Given the description of an element on the screen output the (x, y) to click on. 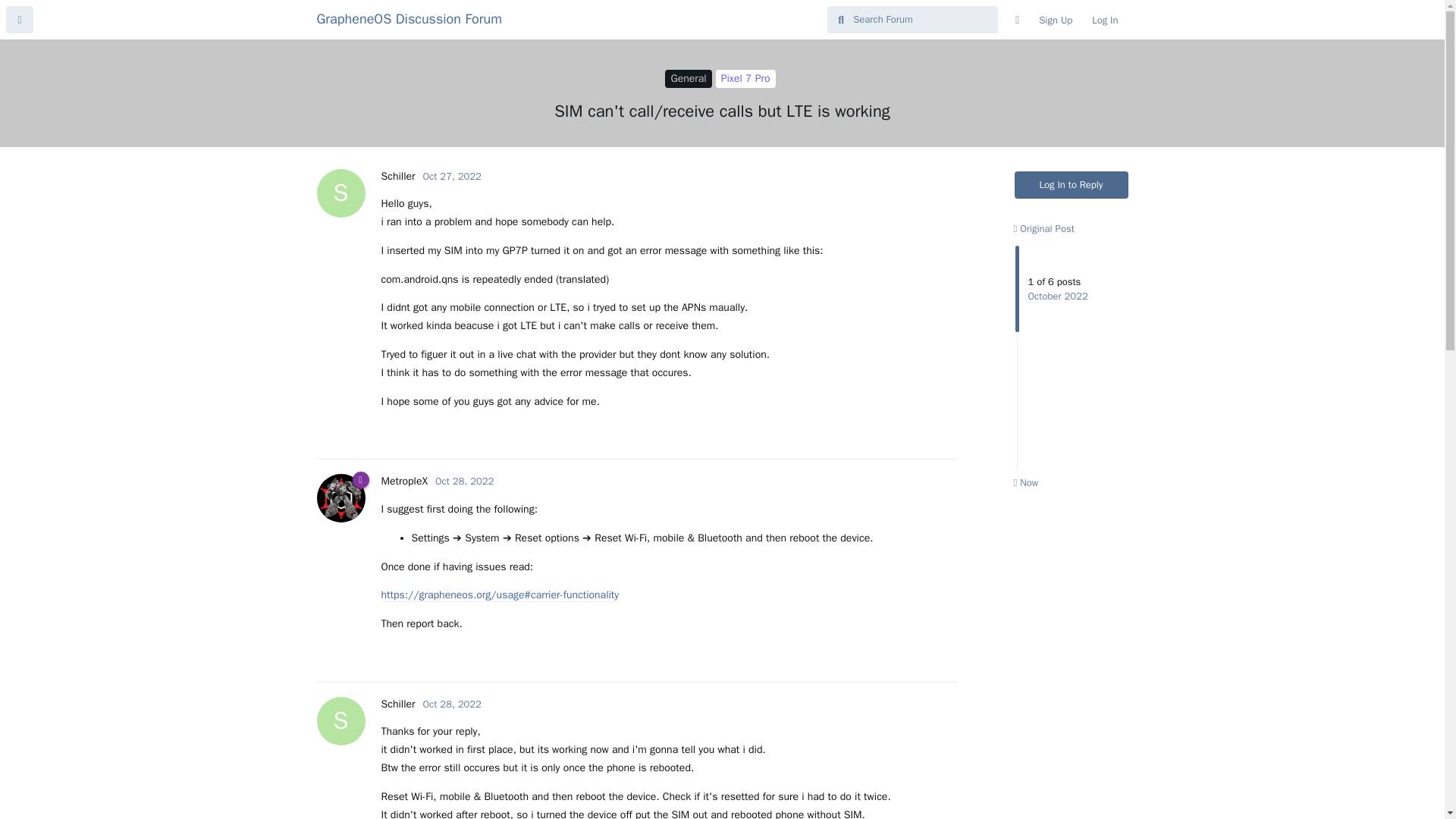
General (688, 78)
Pixel 7 Pro (746, 78)
Sign Up (397, 175)
Log In (1055, 19)
Oct 28, 2022 (1103, 19)
Friday, October 28, 2022 1:42 AM (464, 481)
Log In to Reply (397, 703)
Original Post (464, 481)
